Given the description of an element on the screen output the (x, y) to click on. 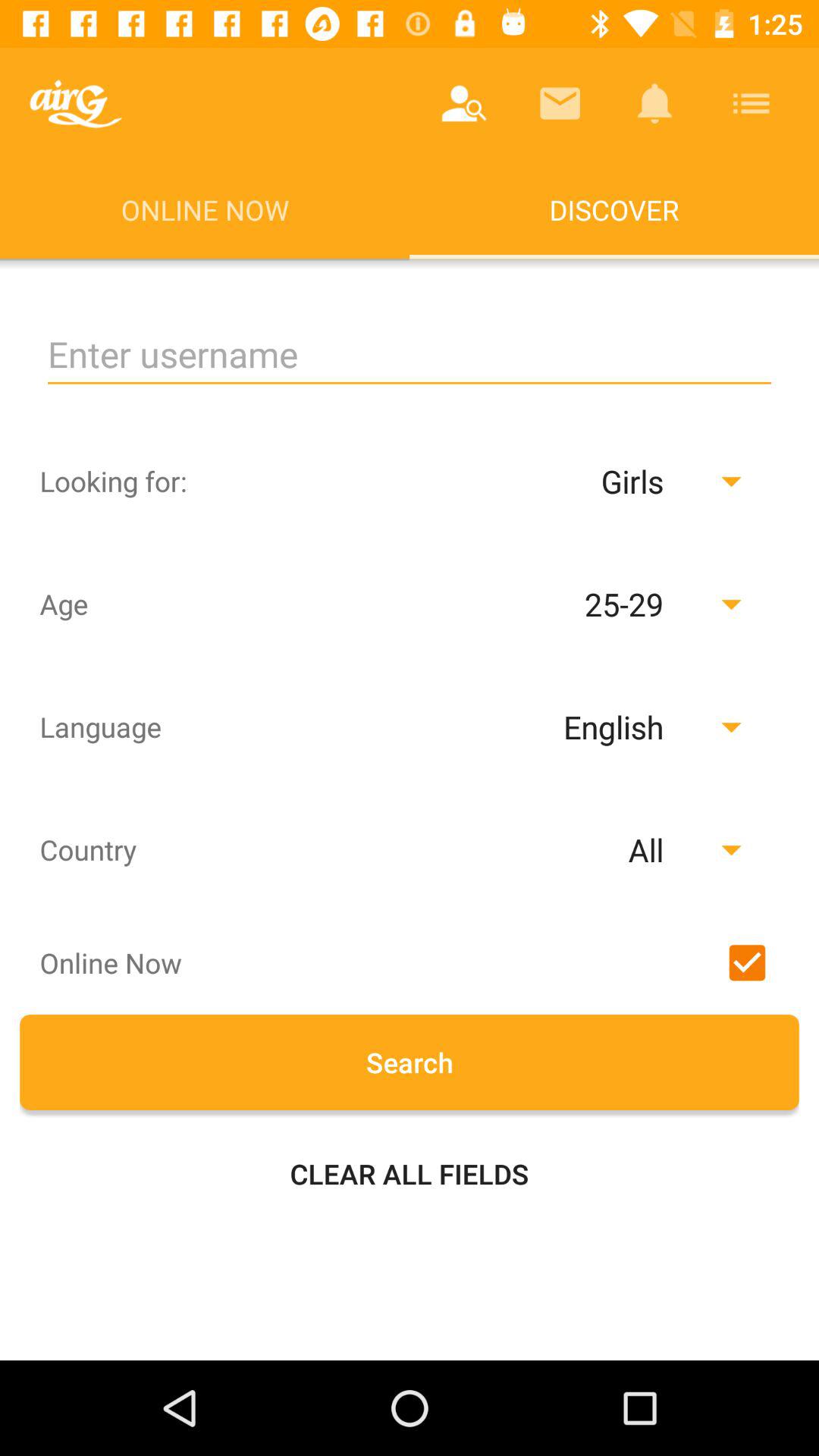
turn off the icon to the left of the discover icon (75, 103)
